Given the description of an element on the screen output the (x, y) to click on. 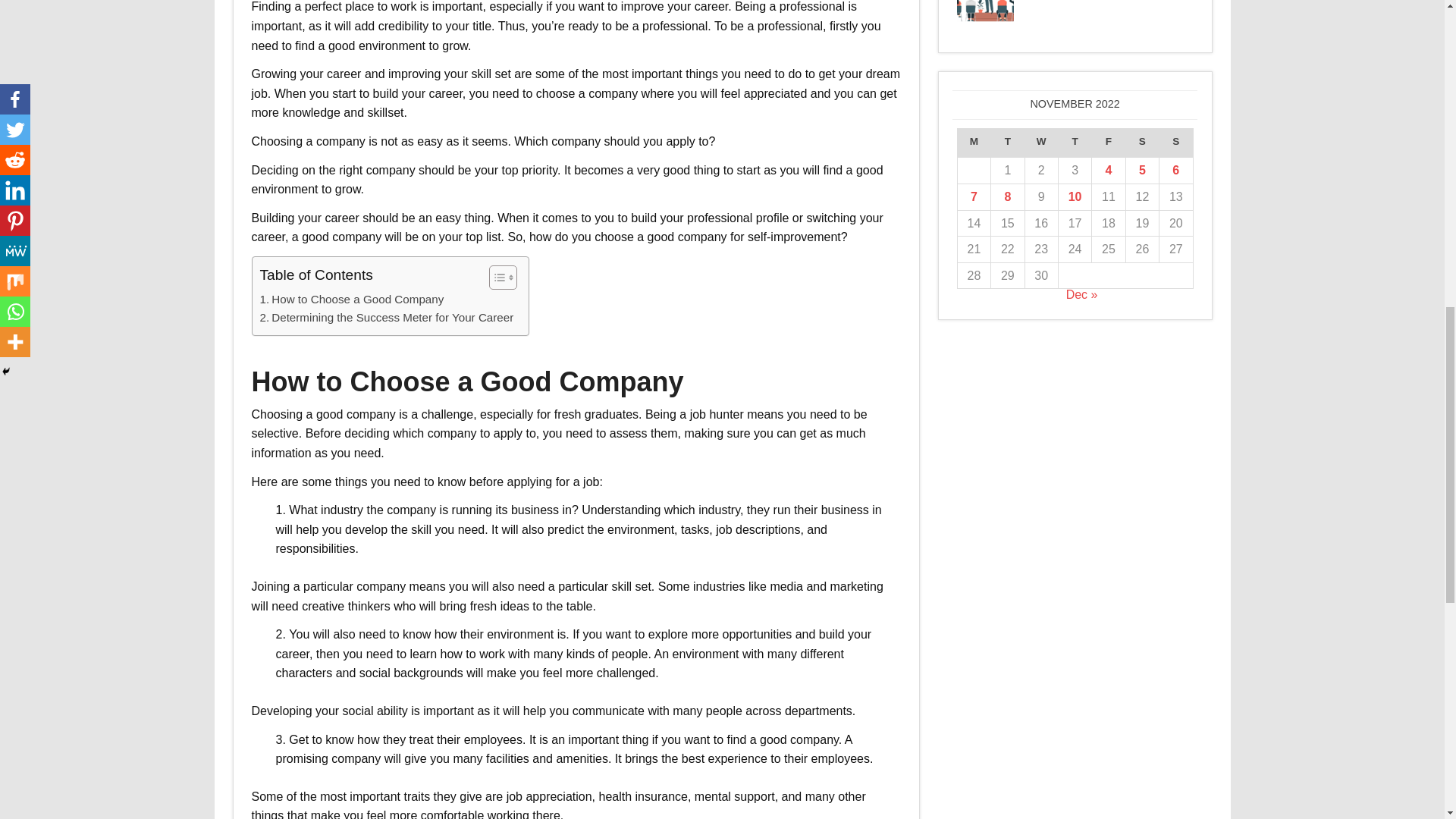
Determining the Success Meter for Your Career (386, 317)
How to Choose a Good Company (351, 299)
How to Choose a Good Company (351, 299)
Determining the Success Meter for Your Career (386, 317)
